Given the description of an element on the screen output the (x, y) to click on. 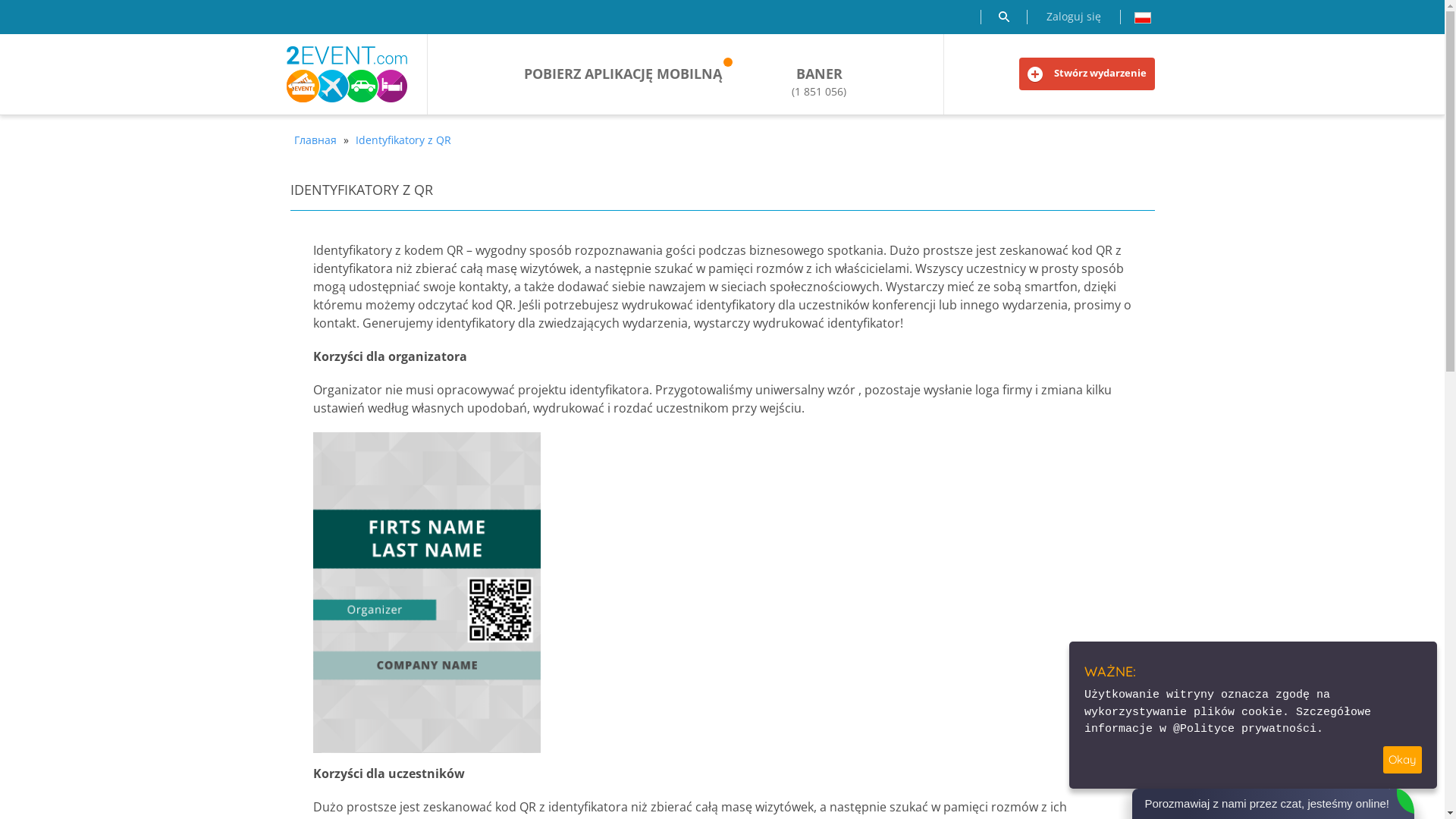
 Szukaj Element type: hover (1003, 16)
BANER
(1 851 056) Element type: text (818, 81)
Okay Element type: text (1402, 760)
Identyfikatory z QR Element type: text (403, 139)
